Given the description of an element on the screen output the (x, y) to click on. 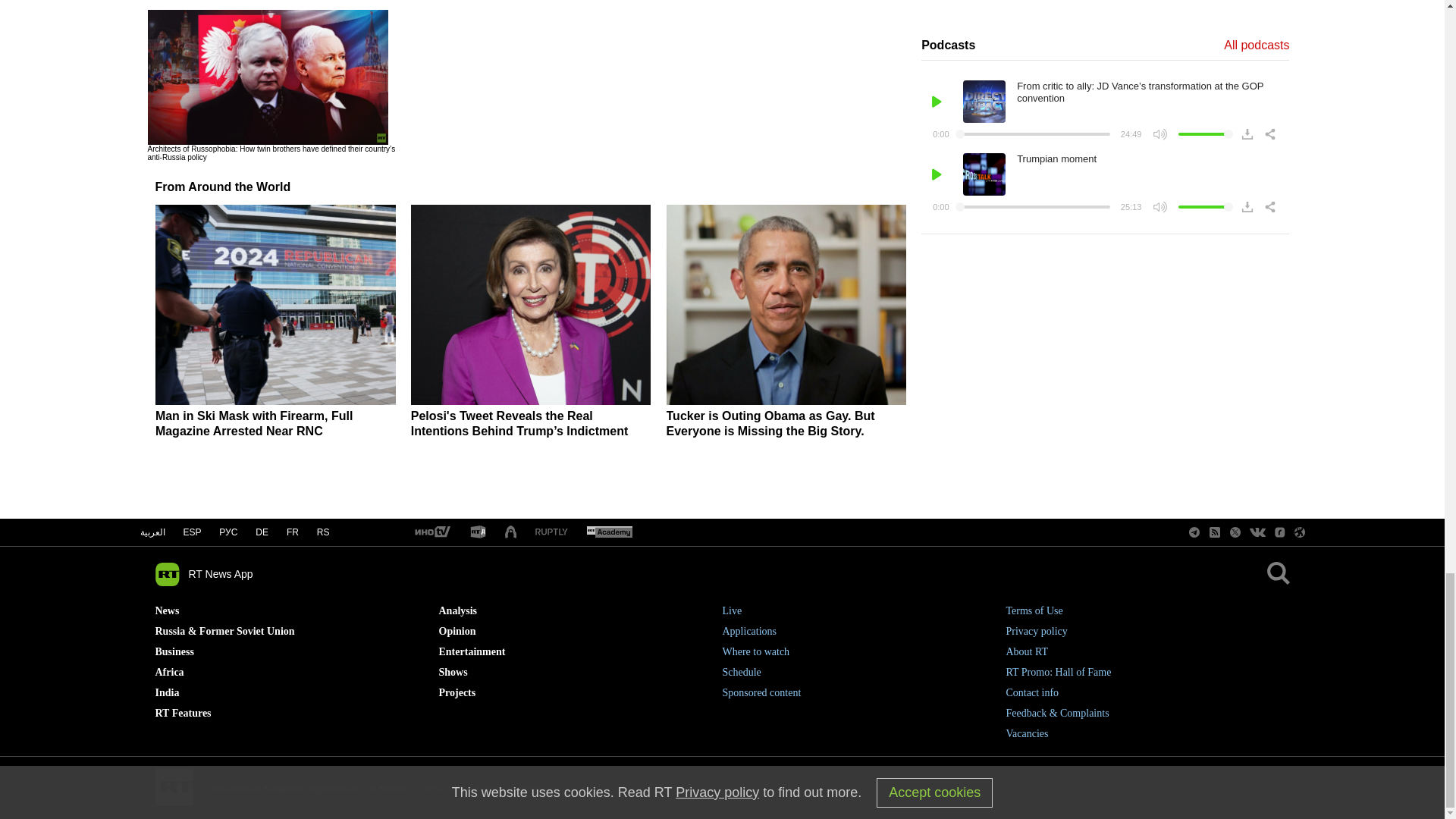
RT  (551, 532)
RT  (431, 532)
RT  (478, 532)
RT  (608, 532)
